Given the description of an element on the screen output the (x, y) to click on. 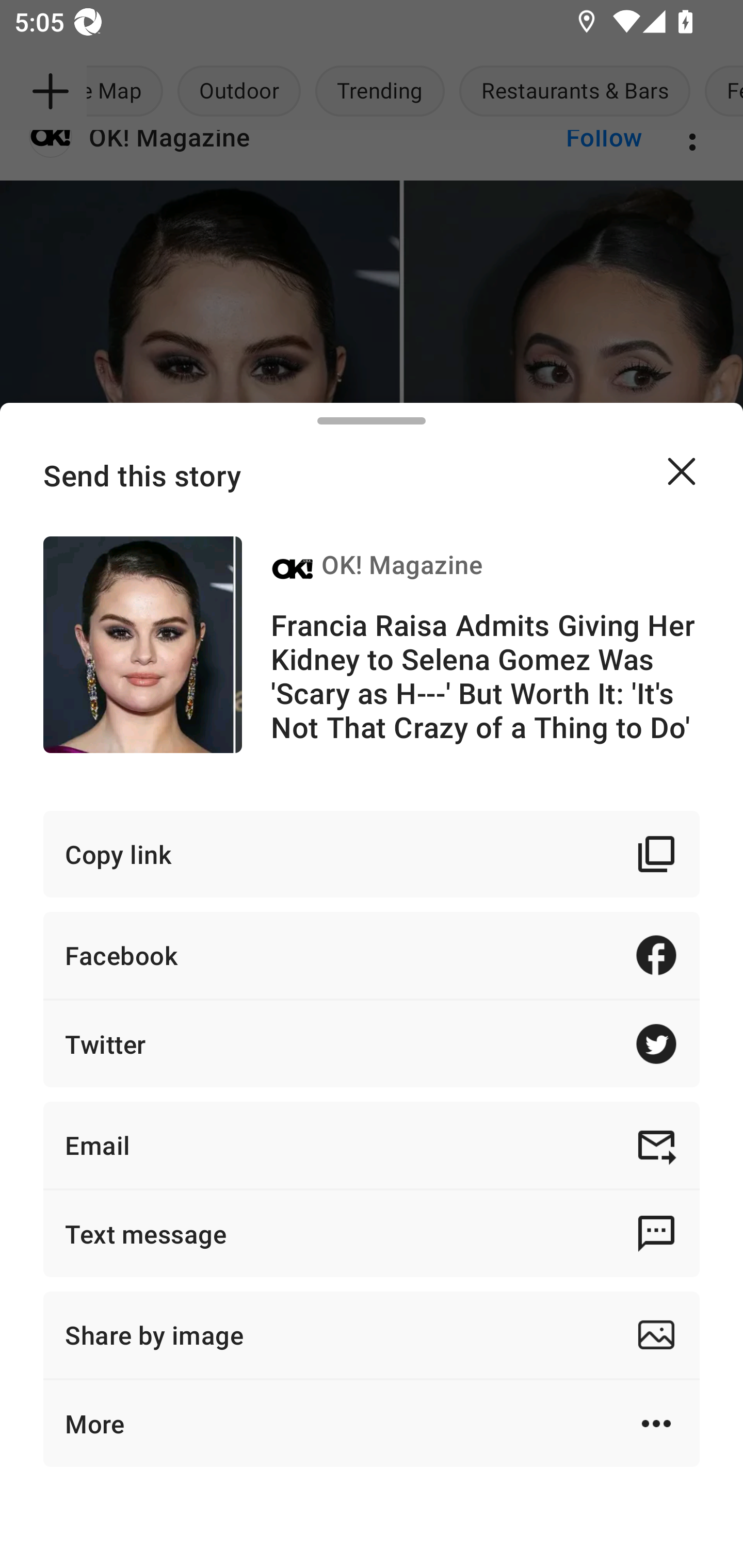
Copy link (371, 853)
Facebook (371, 955)
Twitter (371, 1043)
Email (371, 1145)
Text message (371, 1233)
Share by image (371, 1335)
More (371, 1423)
